Given the description of an element on the screen output the (x, y) to click on. 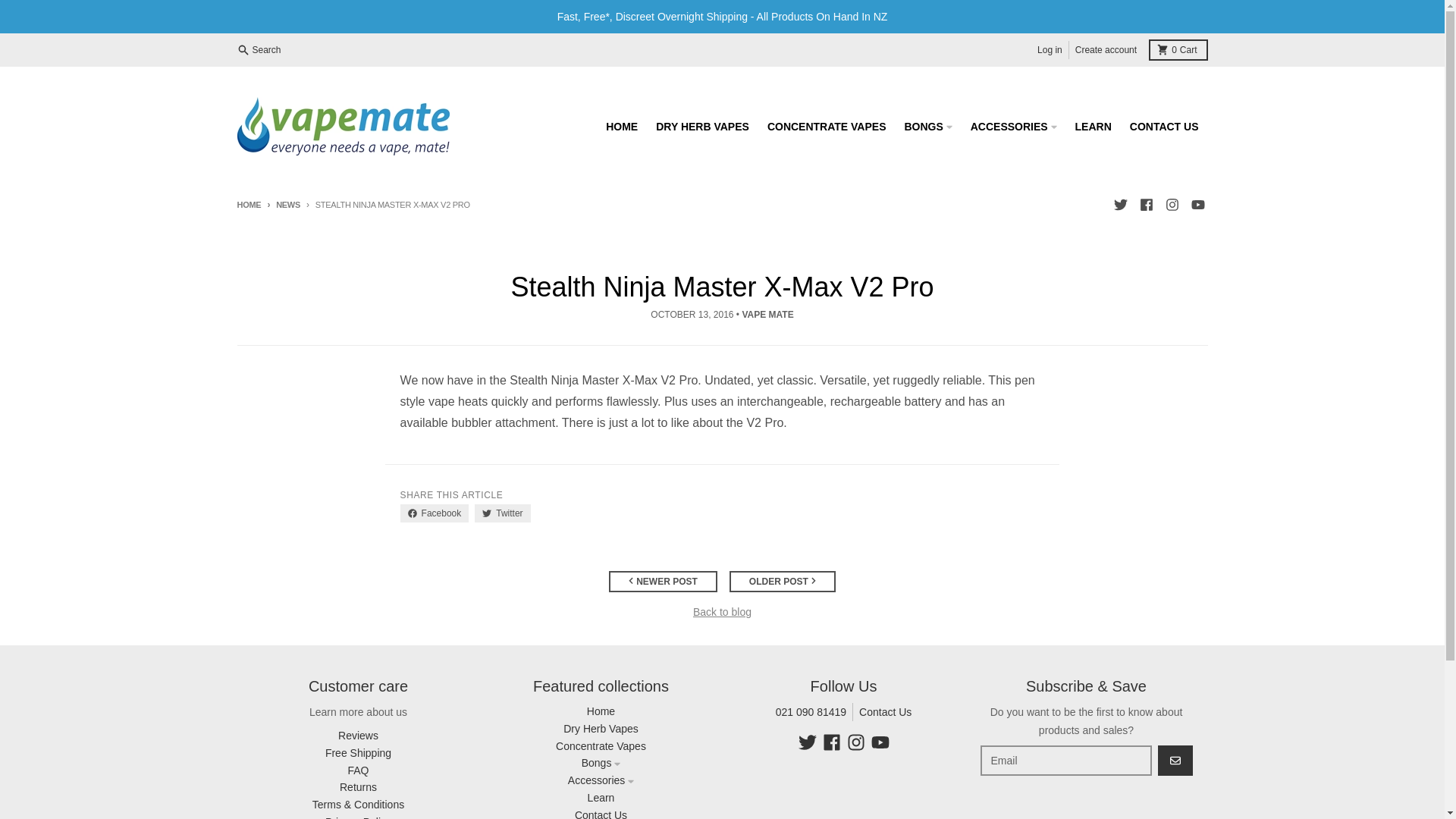
Instagram - Vape Mate (1170, 204)
Twitter - Vape Mate (1177, 49)
YouTube - Vape Mate (806, 742)
Instagram - Vape Mate (879, 742)
Facebook - Vape Mate (854, 742)
CONTACT US (831, 742)
Search (1164, 125)
YouTube - Vape Mate (259, 49)
Back to the homepage (1197, 204)
